Given the description of an element on the screen output the (x, y) to click on. 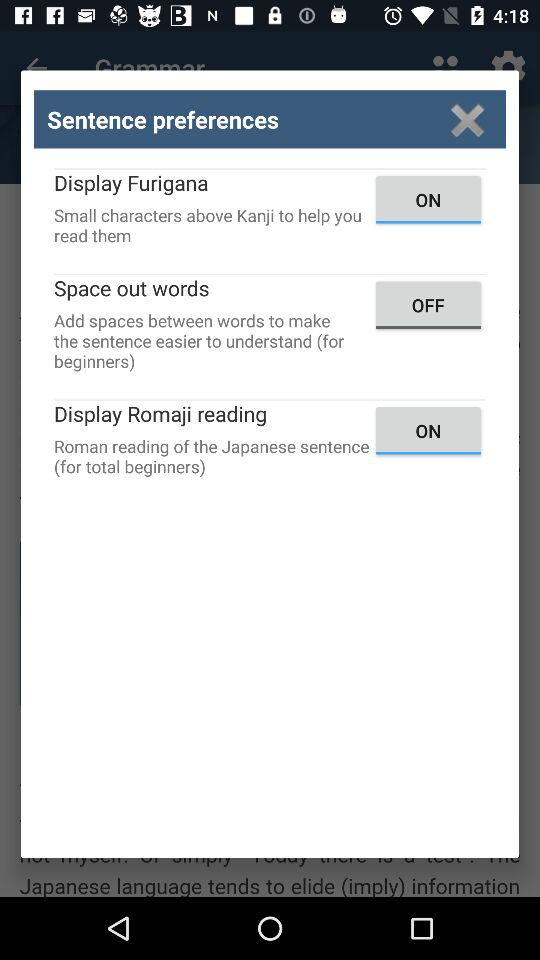
turn on item below small characters above icon (427, 304)
